Given the description of an element on the screen output the (x, y) to click on. 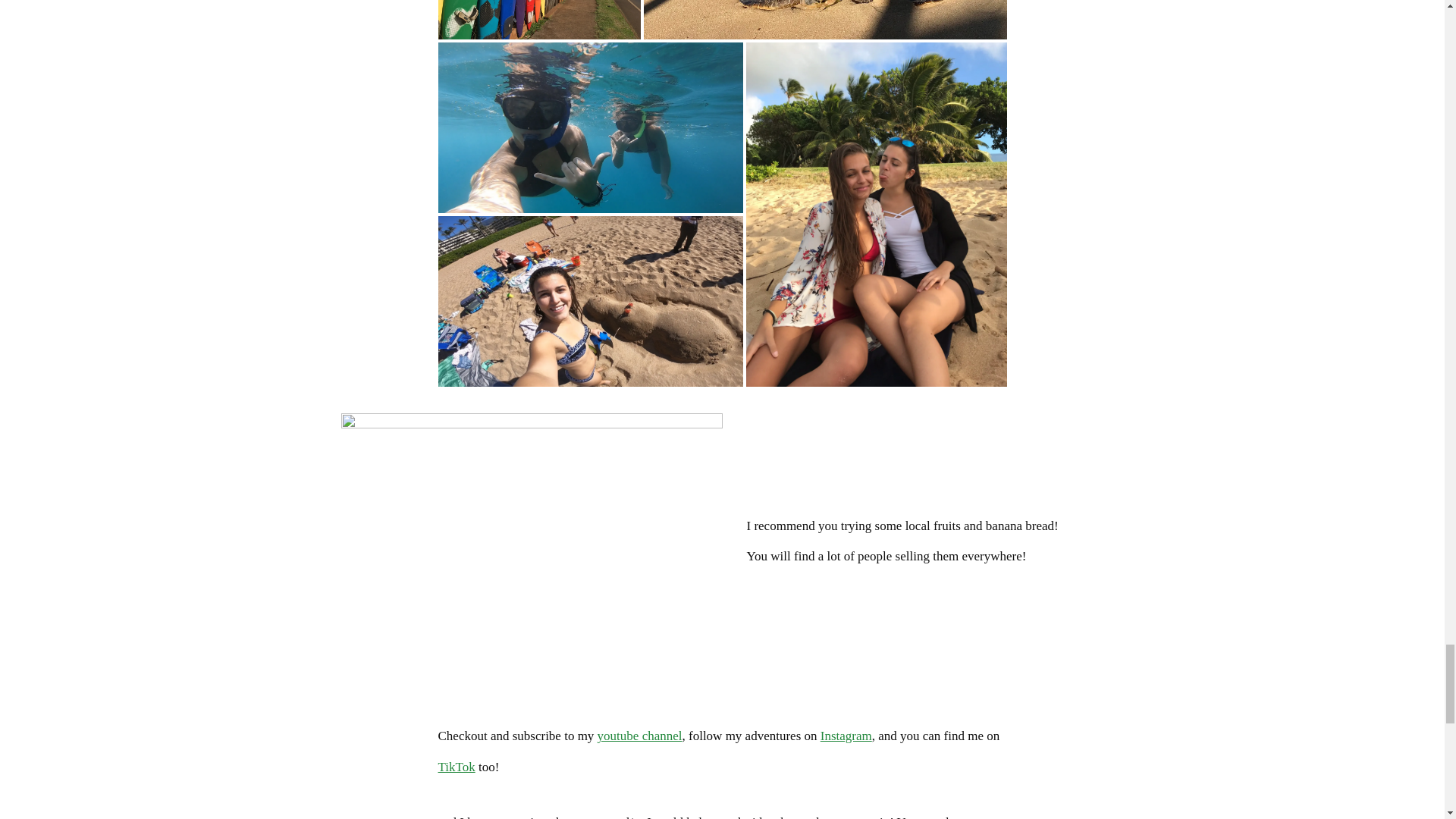
TikTok (457, 766)
Instagram (846, 735)
youtube channel (639, 735)
